Given the description of an element on the screen output the (x, y) to click on. 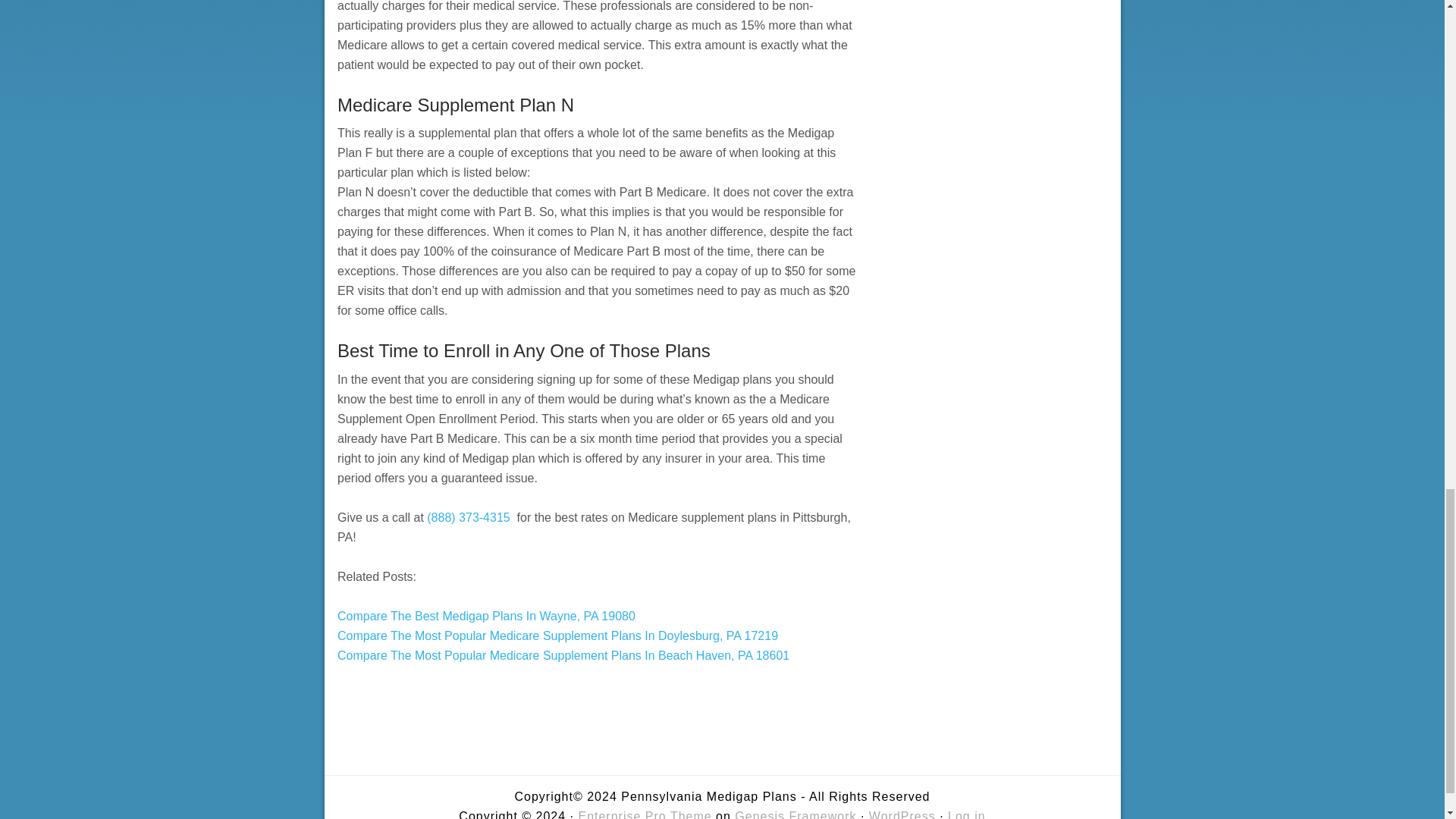
Compare The Best Medigap Plans In Wayne, PA 19080 (485, 615)
Compare The Best Medigap Plans In Wayne, PA 19080 (485, 615)
